Given the description of an element on the screen output the (x, y) to click on. 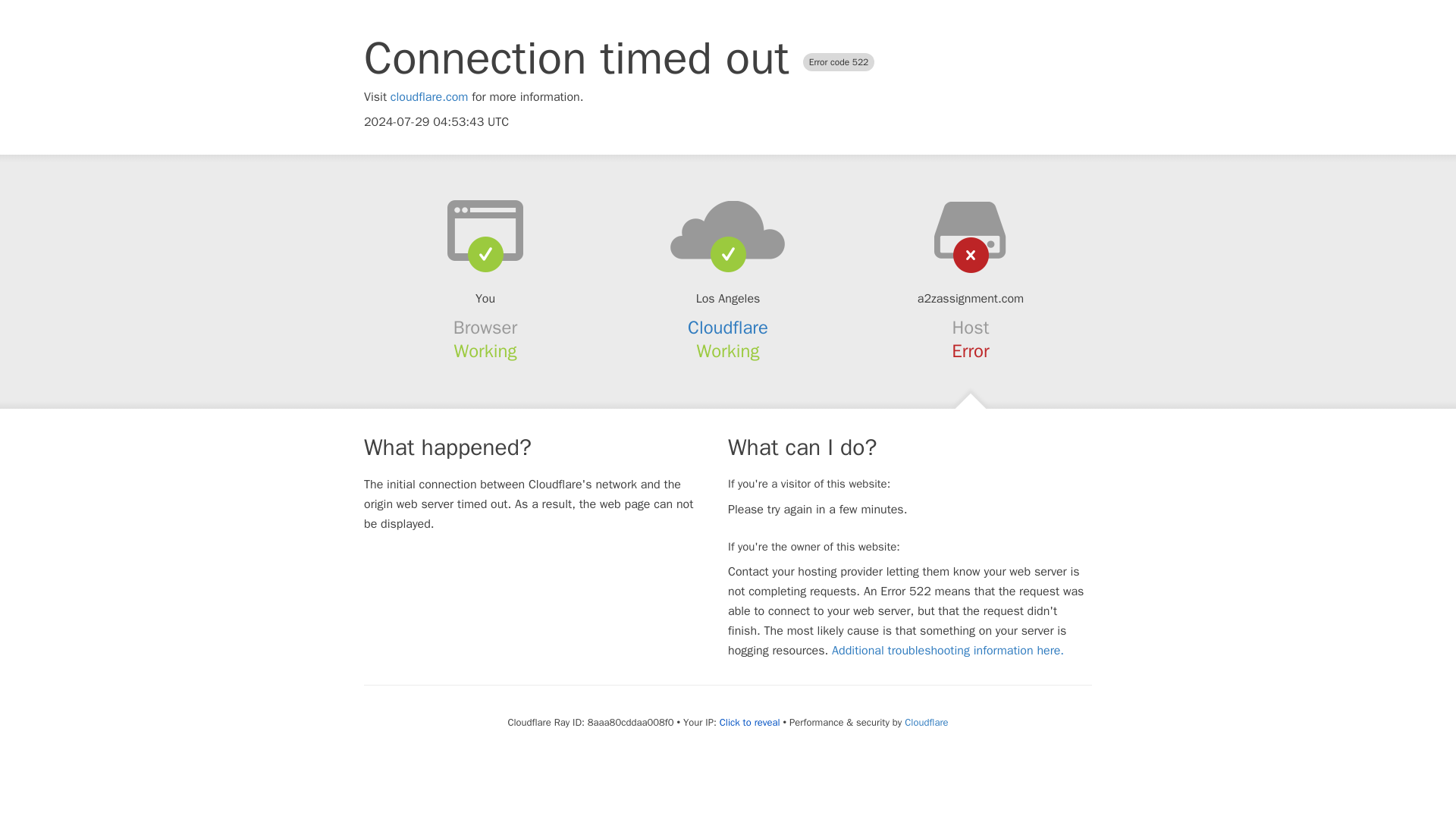
cloudflare.com (429, 96)
Click to reveal (749, 722)
Cloudflare (925, 721)
Cloudflare (727, 327)
Additional troubleshooting information here. (947, 650)
